Given the description of an element on the screen output the (x, y) to click on. 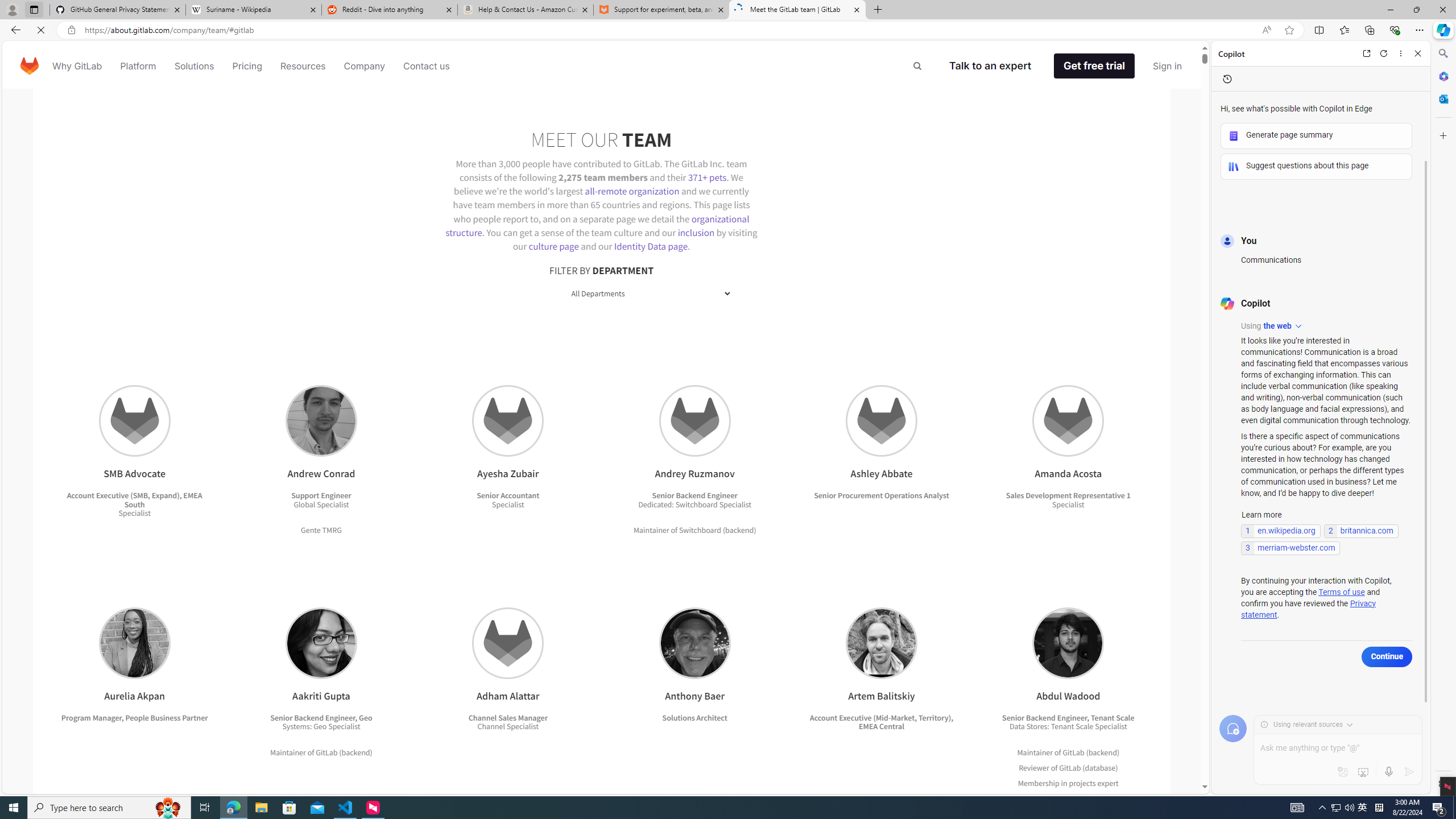
Pricing (246, 65)
Get free trial (1102, 65)
